Given the description of an element on the screen output the (x, y) to click on. 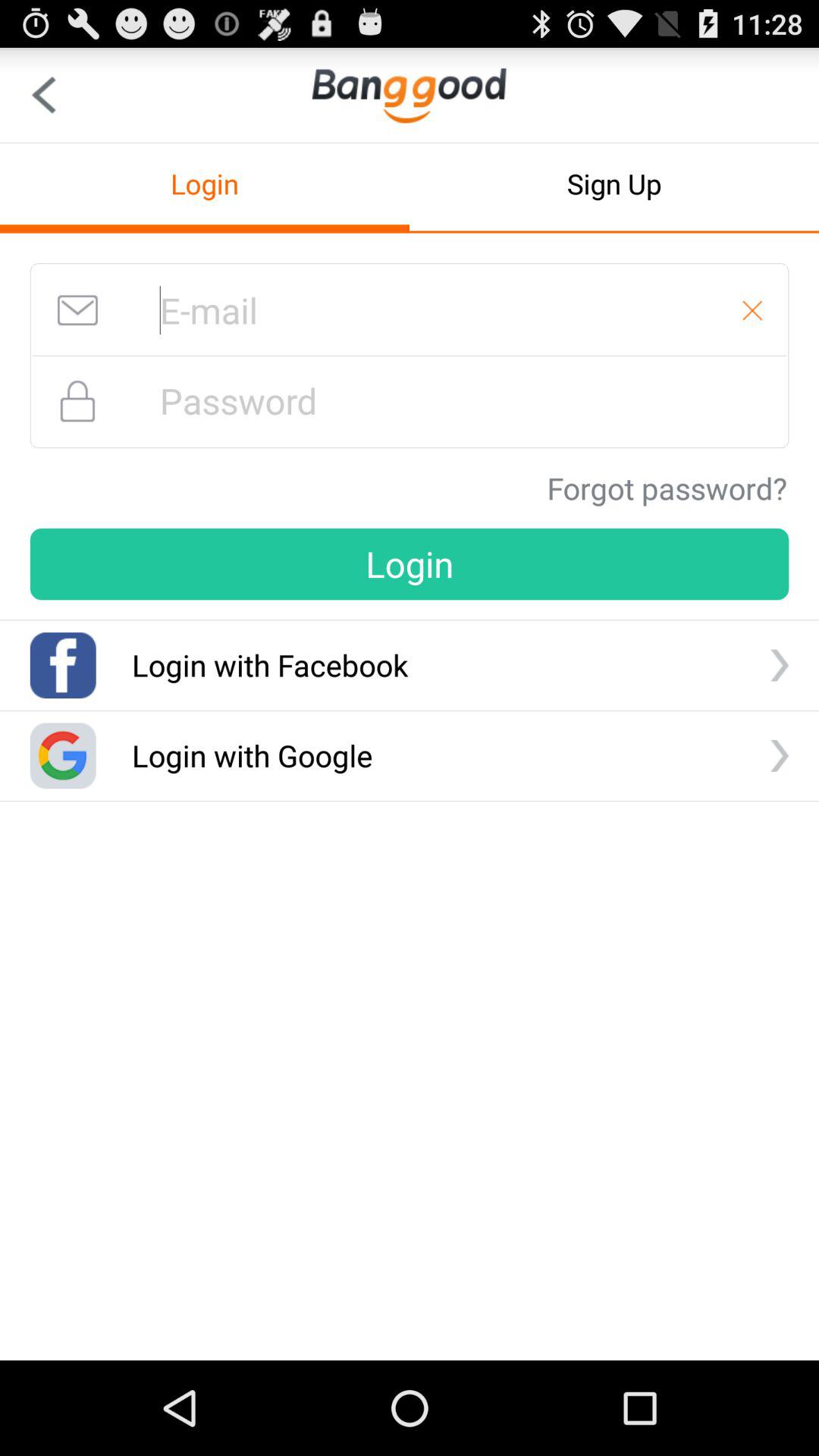
close out email (752, 310)
